Given the description of an element on the screen output the (x, y) to click on. 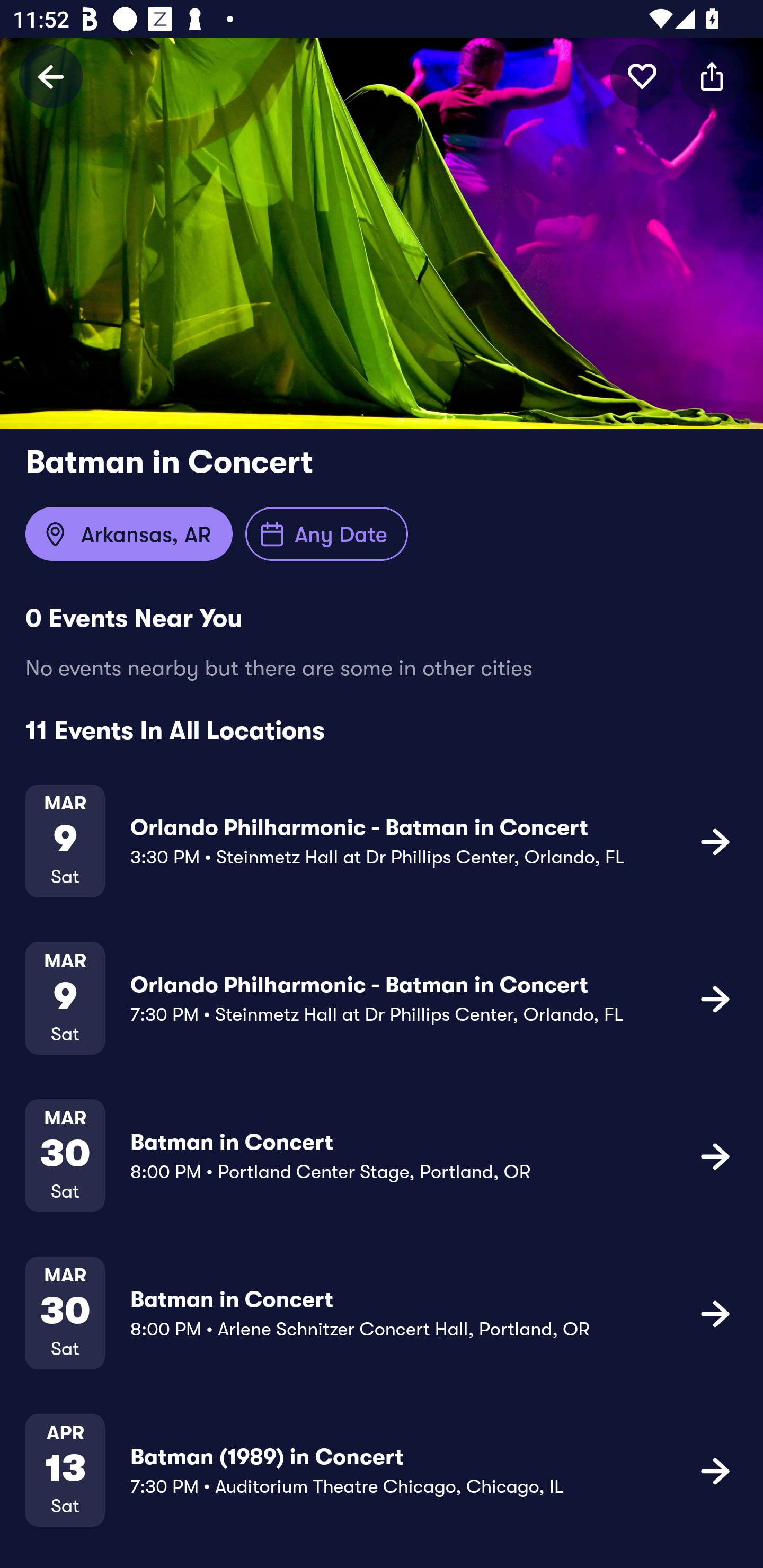
Back (50, 75)
icon button (641, 75)
icon button (711, 75)
Arkansas, AR (128, 533)
Any Date (326, 533)
icon button (714, 840)
icon button (714, 998)
icon button (714, 1155)
icon button (714, 1312)
icon button (714, 1470)
